Given the description of an element on the screen output the (x, y) to click on. 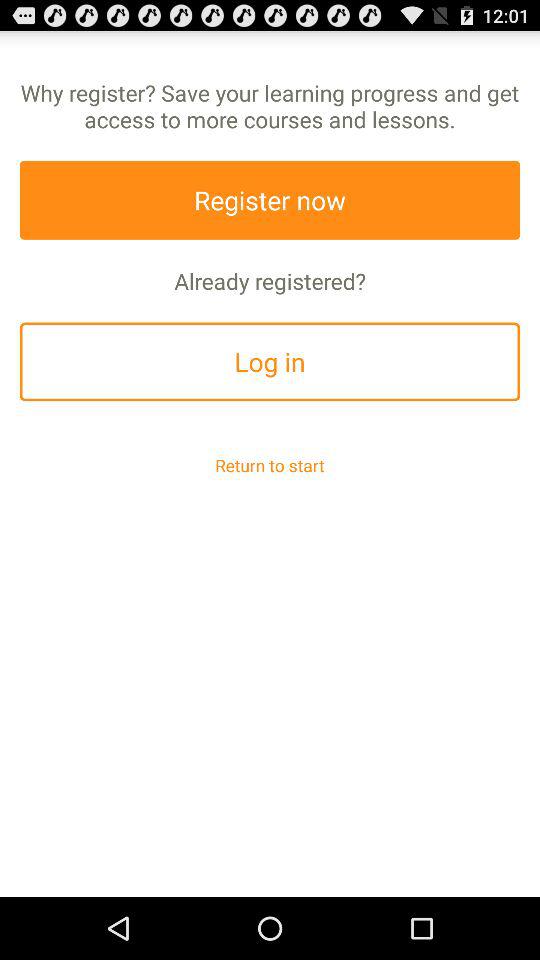
press the item above the return to start app (269, 361)
